Given the description of an element on the screen output the (x, y) to click on. 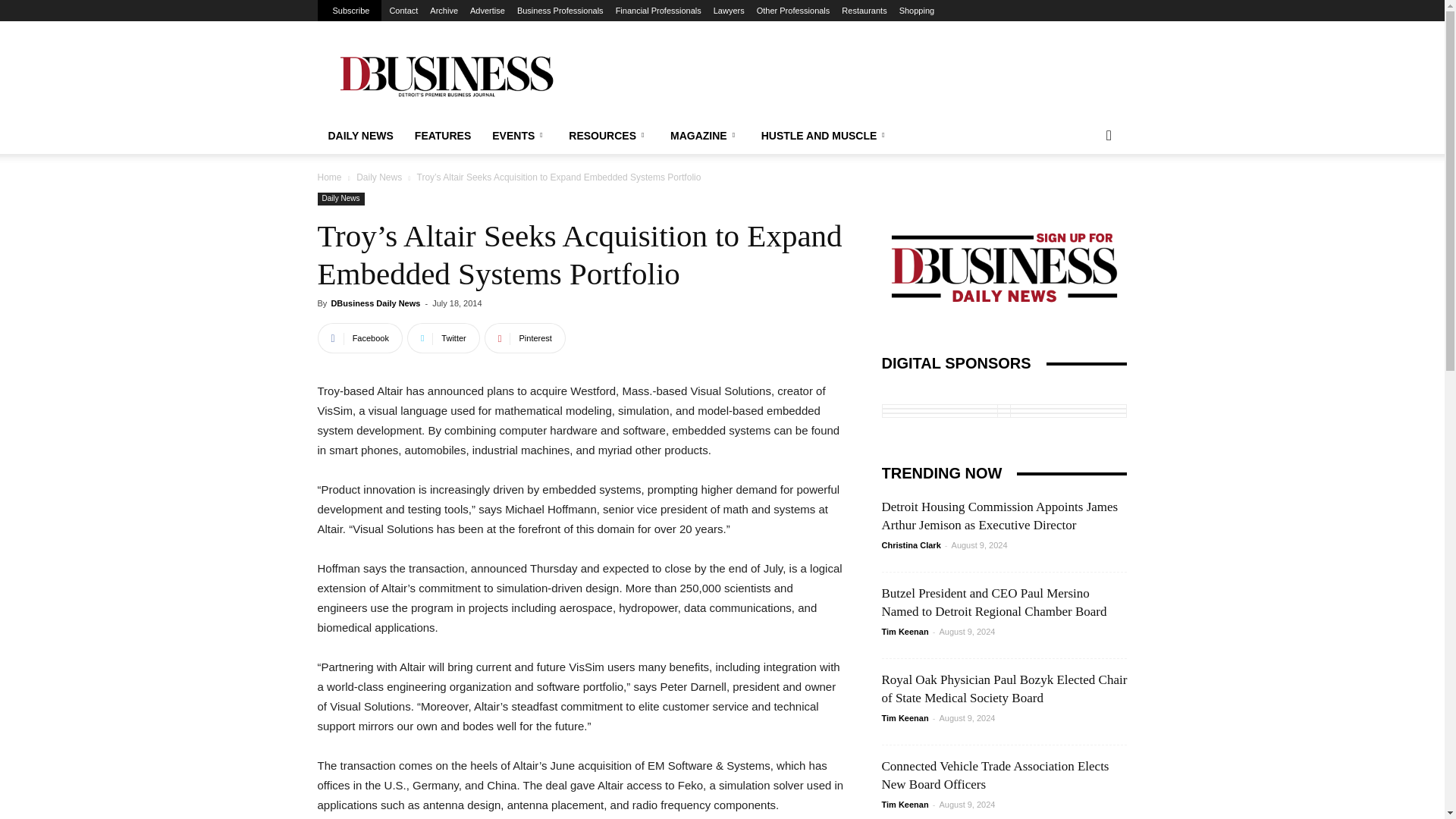
View all posts in Daily News (378, 176)
Posts by DBusiness Daily News (375, 302)
DBusiness Magazine (445, 76)
